Given the description of an element on the screen output the (x, y) to click on. 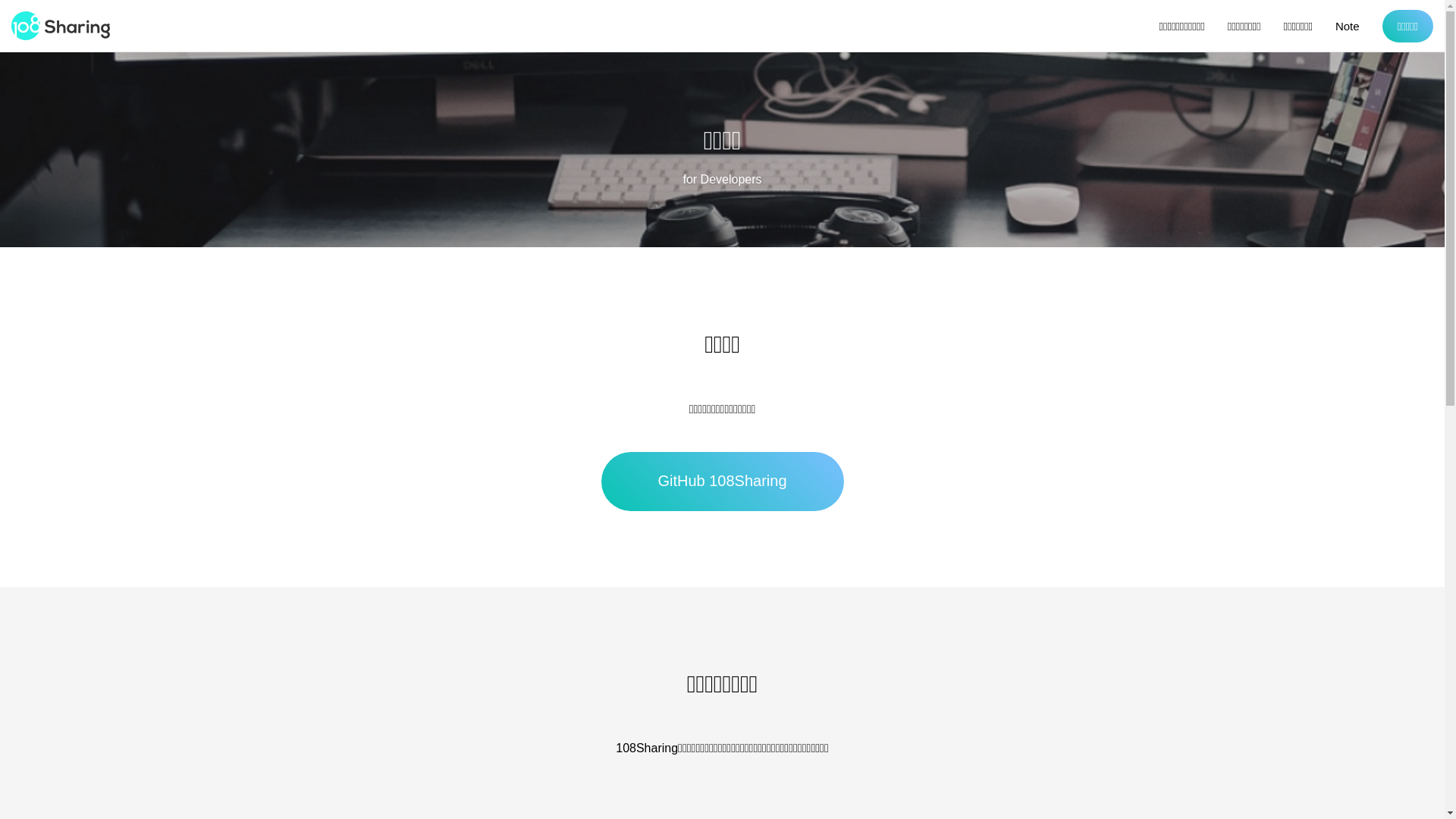
GitHub 108Sharing Element type: text (721, 481)
Note Element type: text (1347, 25)
